Given the description of an element on the screen output the (x, y) to click on. 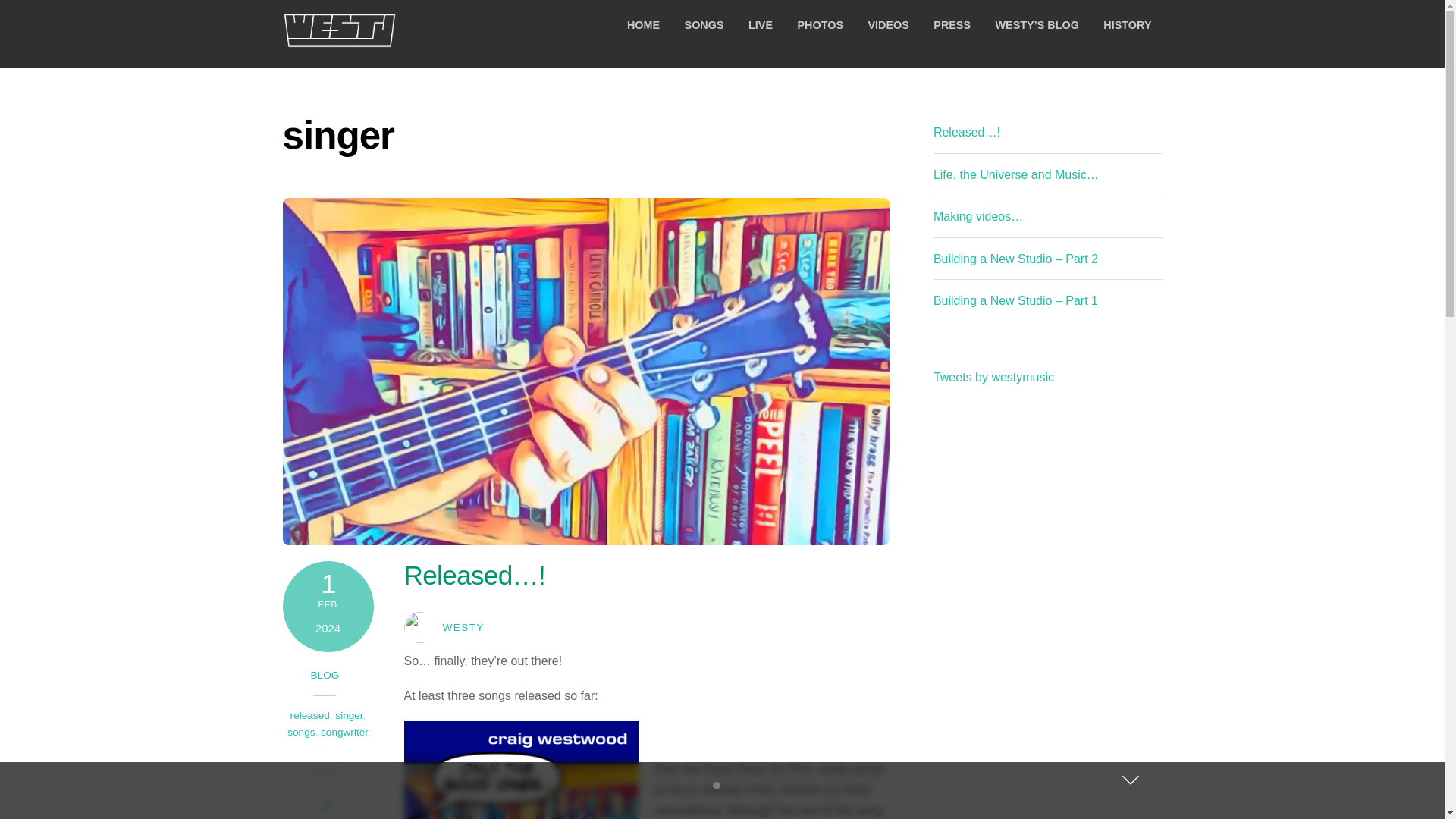
WESTY (463, 627)
HOME (642, 25)
SONGS (704, 25)
PHOTOS (819, 25)
songs (300, 731)
PRESS (952, 25)
songwriter (344, 731)
LIVE (760, 25)
WestyMusic (339, 39)
Collapse player (1129, 779)
